Given the description of an element on the screen output the (x, y) to click on. 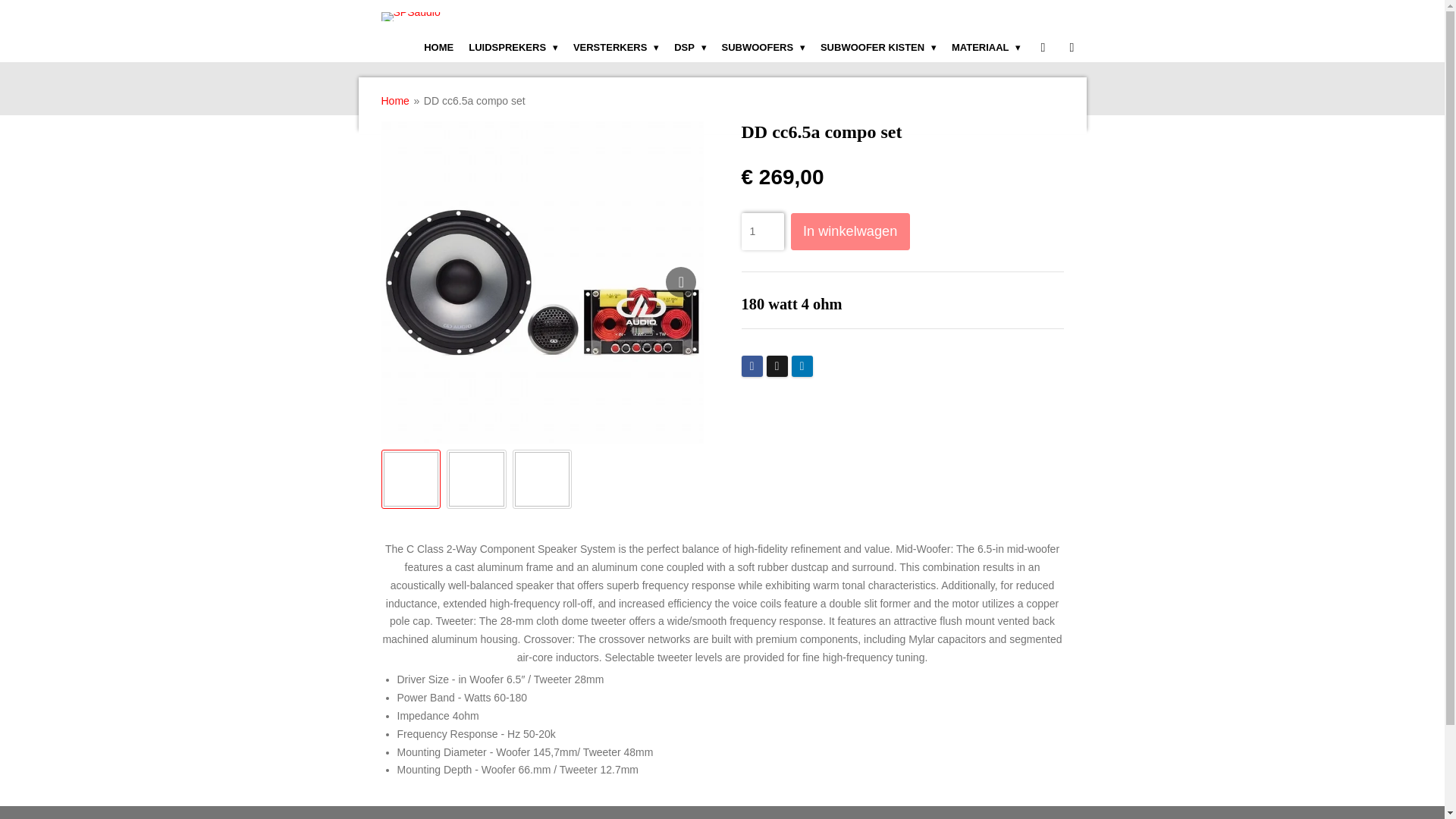
1 (762, 231)
Account (1042, 47)
SPSaudio (409, 16)
HOME (438, 47)
VERSTERKERS (616, 47)
Zoeken (1071, 47)
LUIDSPREKERS (513, 47)
In winkelwagen (850, 231)
